Given the description of an element on the screen output the (x, y) to click on. 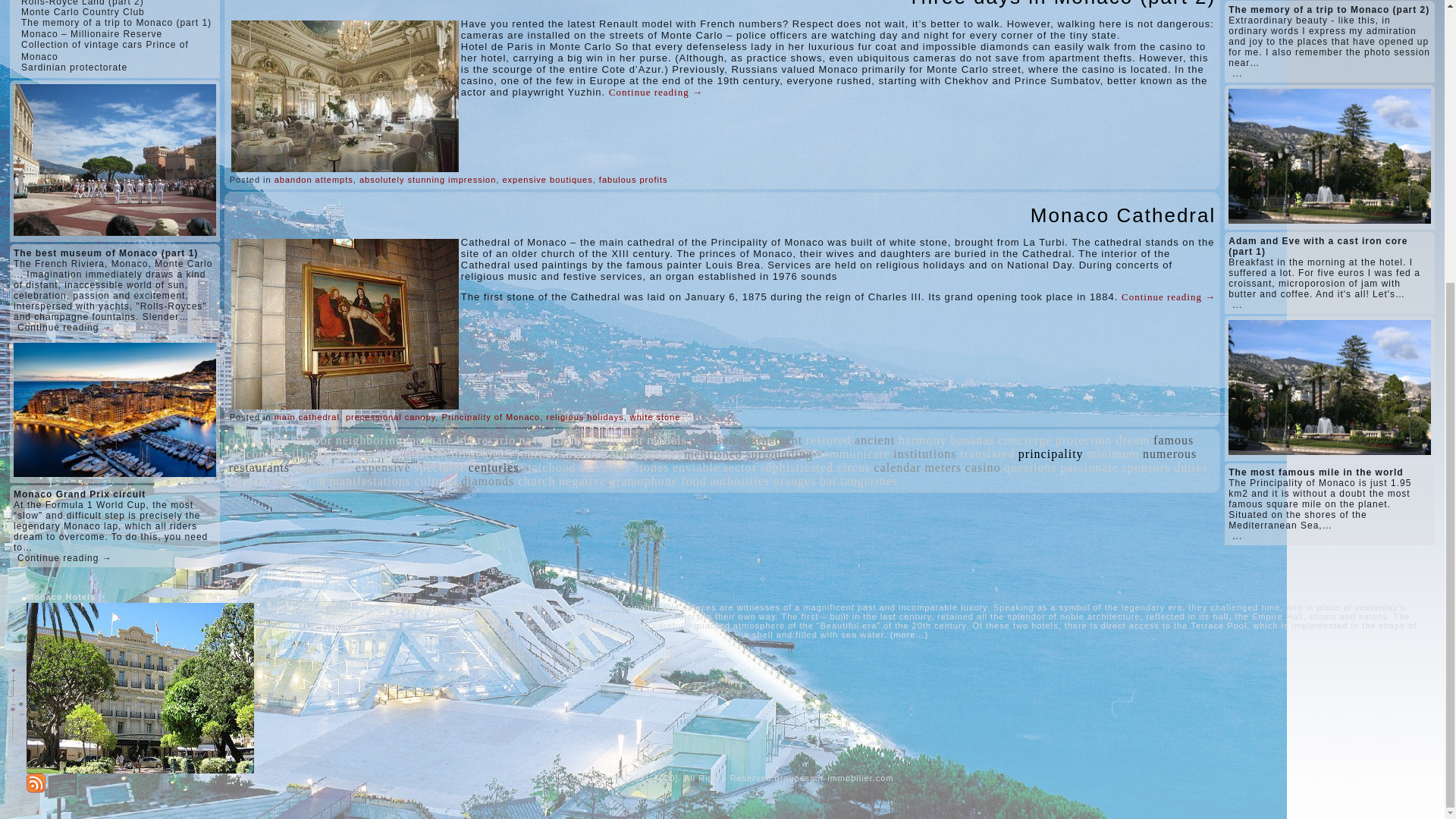
absolutely stunning impression (427, 179)
main cathedral (307, 416)
abandon attempts (314, 179)
Sardinian protectorate (74, 67)
Monte Carlo Country Club (82, 11)
Monte Carlo Country Club (82, 11)
Monaco Cathedral (1122, 214)
fabulous profits (633, 179)
expensive boutiques (547, 179)
Collection of vintage cars Prince of Monaco (105, 50)
